Given the description of an element on the screen output the (x, y) to click on. 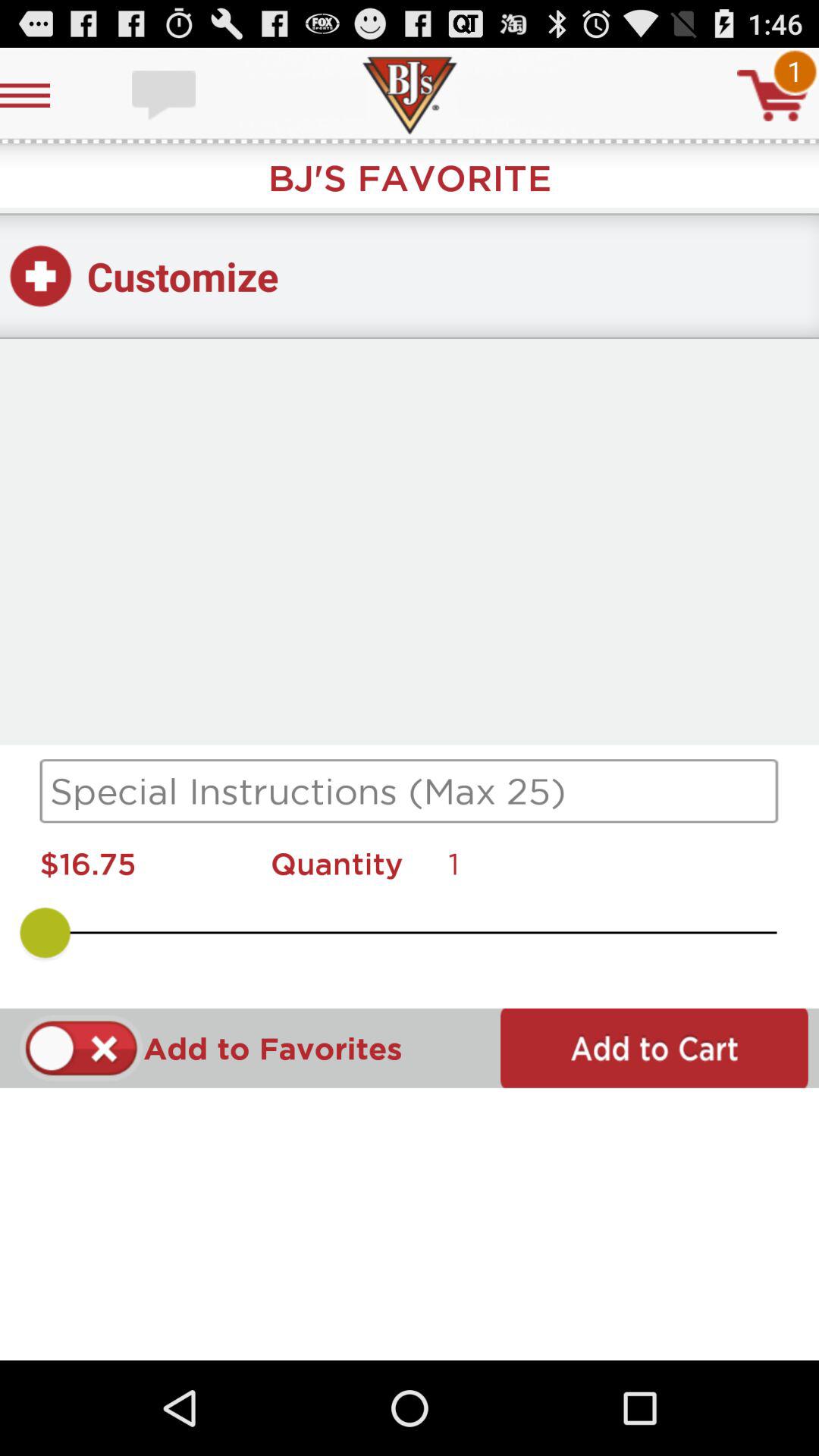
messenger option (165, 95)
